Given the description of an element on the screen output the (x, y) to click on. 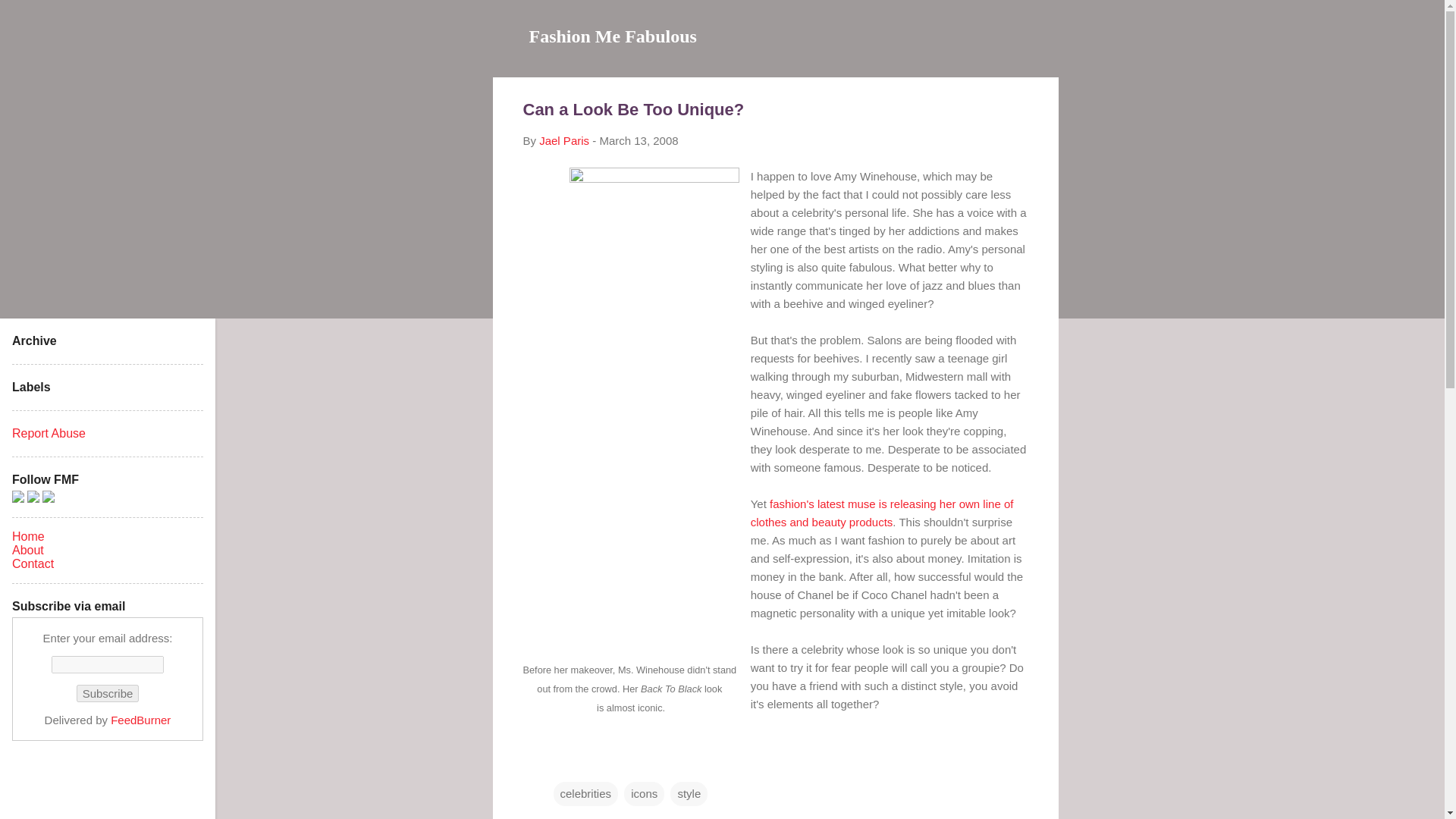
Subscribe (108, 692)
Fashion Me Fabulous (613, 35)
style (688, 793)
celebrities (585, 793)
icons (643, 793)
author profile (563, 140)
Jael Paris (563, 140)
Search (29, 18)
permanent link (638, 140)
March 13, 2008 (638, 140)
